Given the description of an element on the screen output the (x, y) to click on. 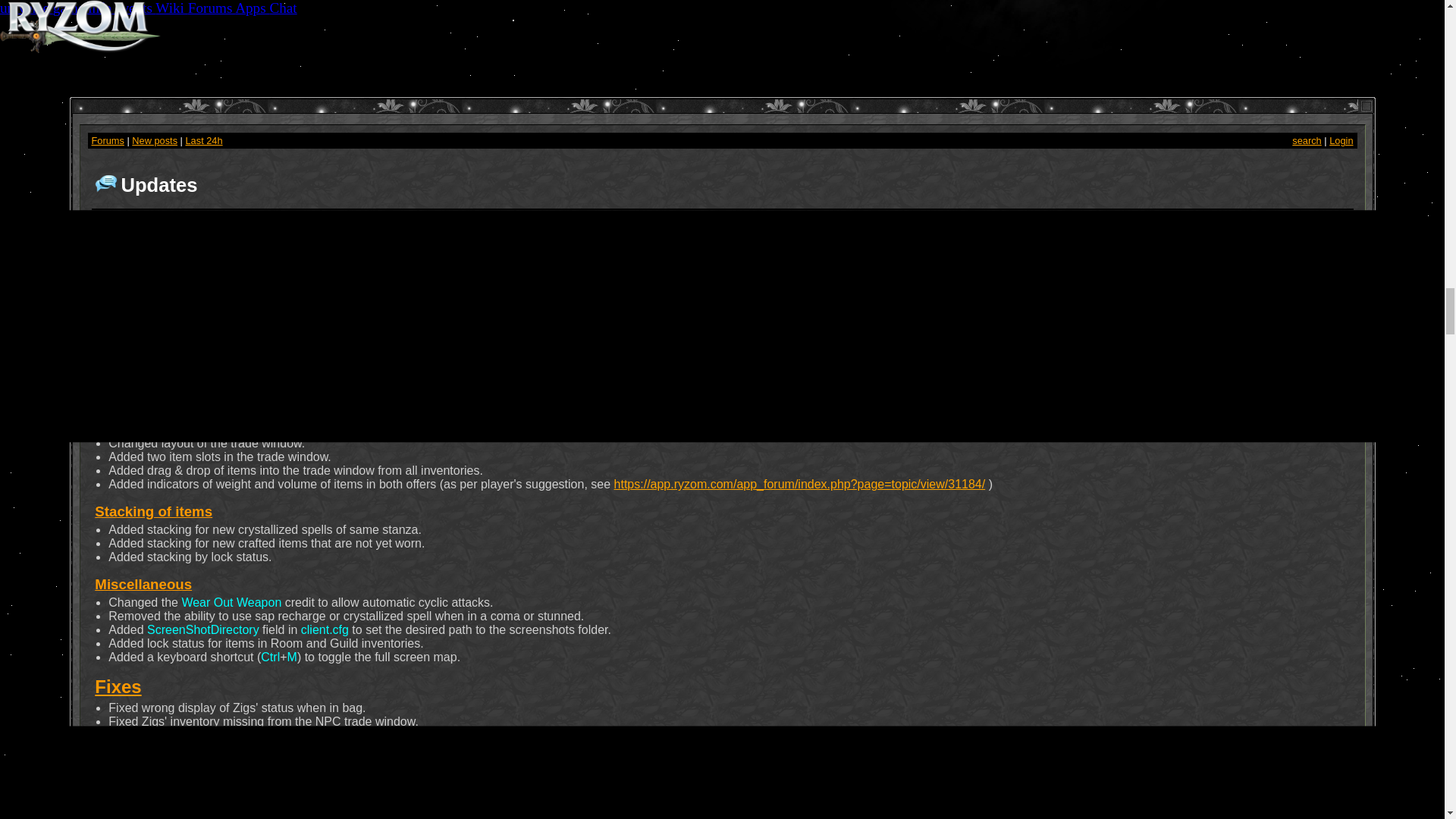
Forums (106, 140)
Last 24h (203, 140)
New posts (154, 140)
search (1306, 140)
Login (1340, 140)
